Given the description of an element on the screen output the (x, y) to click on. 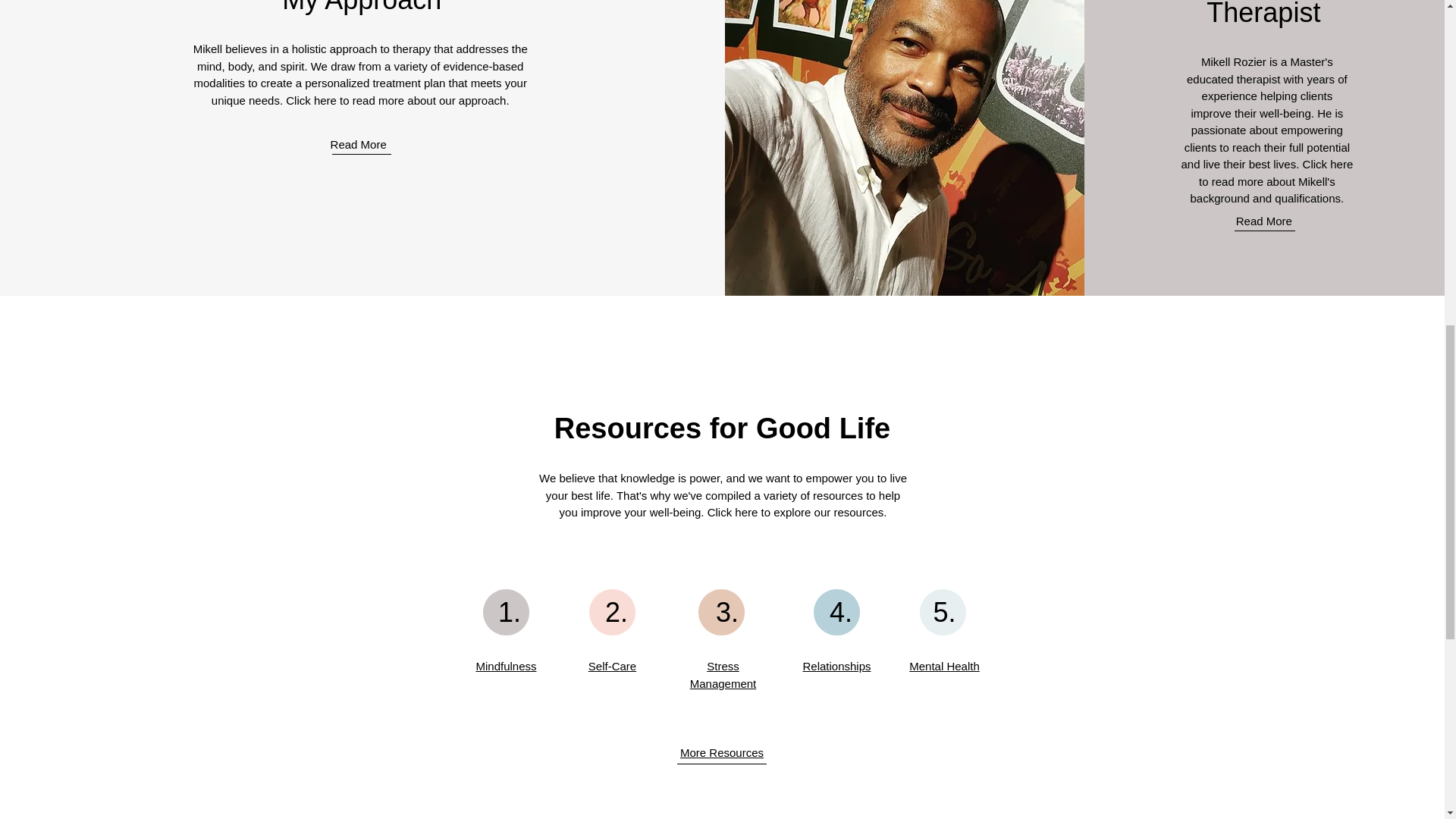
Relationships (836, 666)
Read More (358, 144)
Mental Health (943, 666)
Mindfulness (505, 666)
More Resources (720, 752)
Stress Management (723, 675)
Read More (1264, 220)
Self-Care (612, 666)
